Given the description of an element on the screen output the (x, y) to click on. 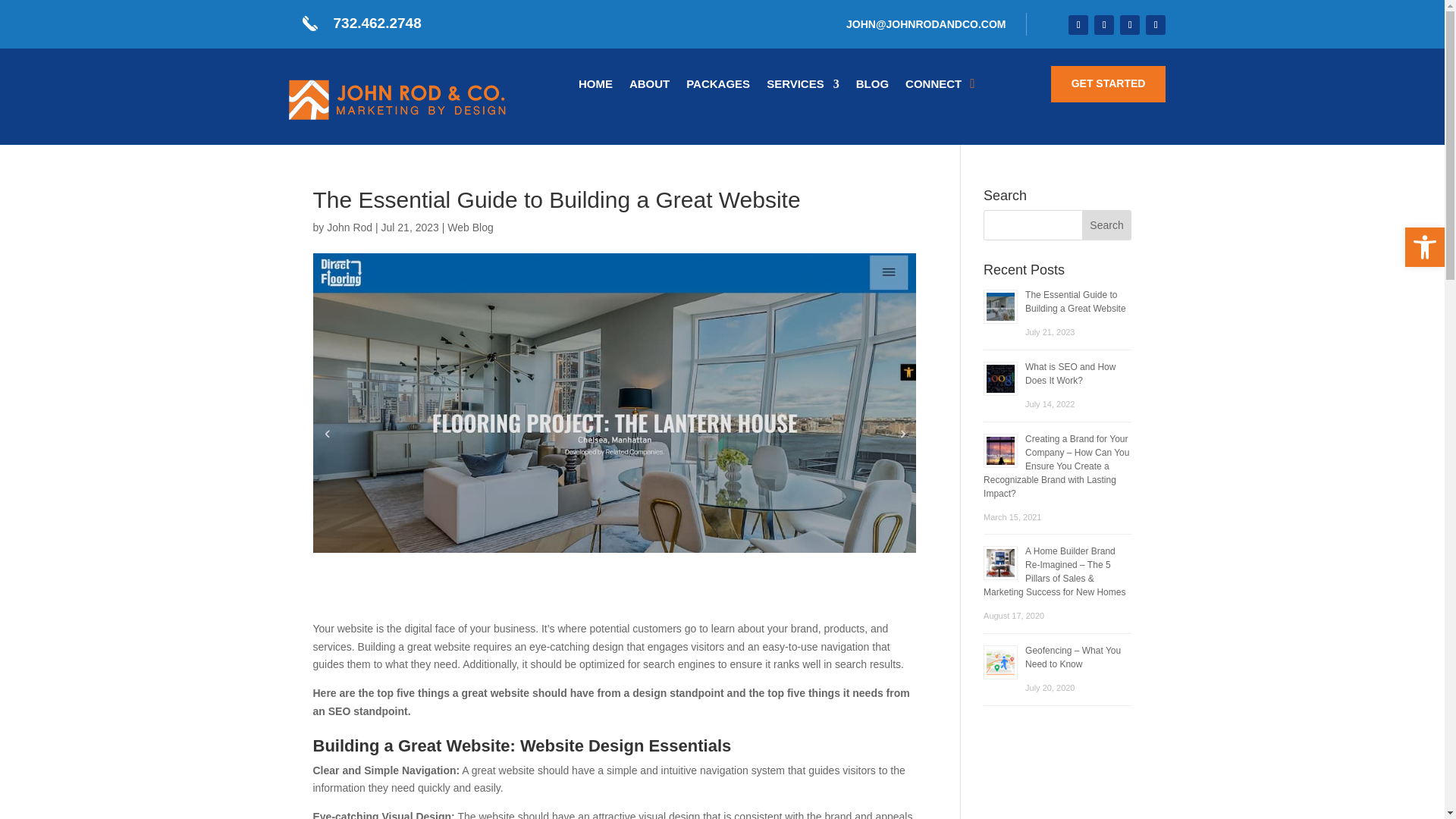
Follow on LinkedIn (1155, 25)
CONNECT (932, 86)
Posts by John Rod (349, 227)
GET STARTED (1108, 84)
Follow on Instagram (1129, 25)
ABOUT (648, 86)
John Rod (349, 227)
Search (1106, 224)
PACKAGES (717, 86)
BLOG (872, 86)
